Given the description of an element on the screen output the (x, y) to click on. 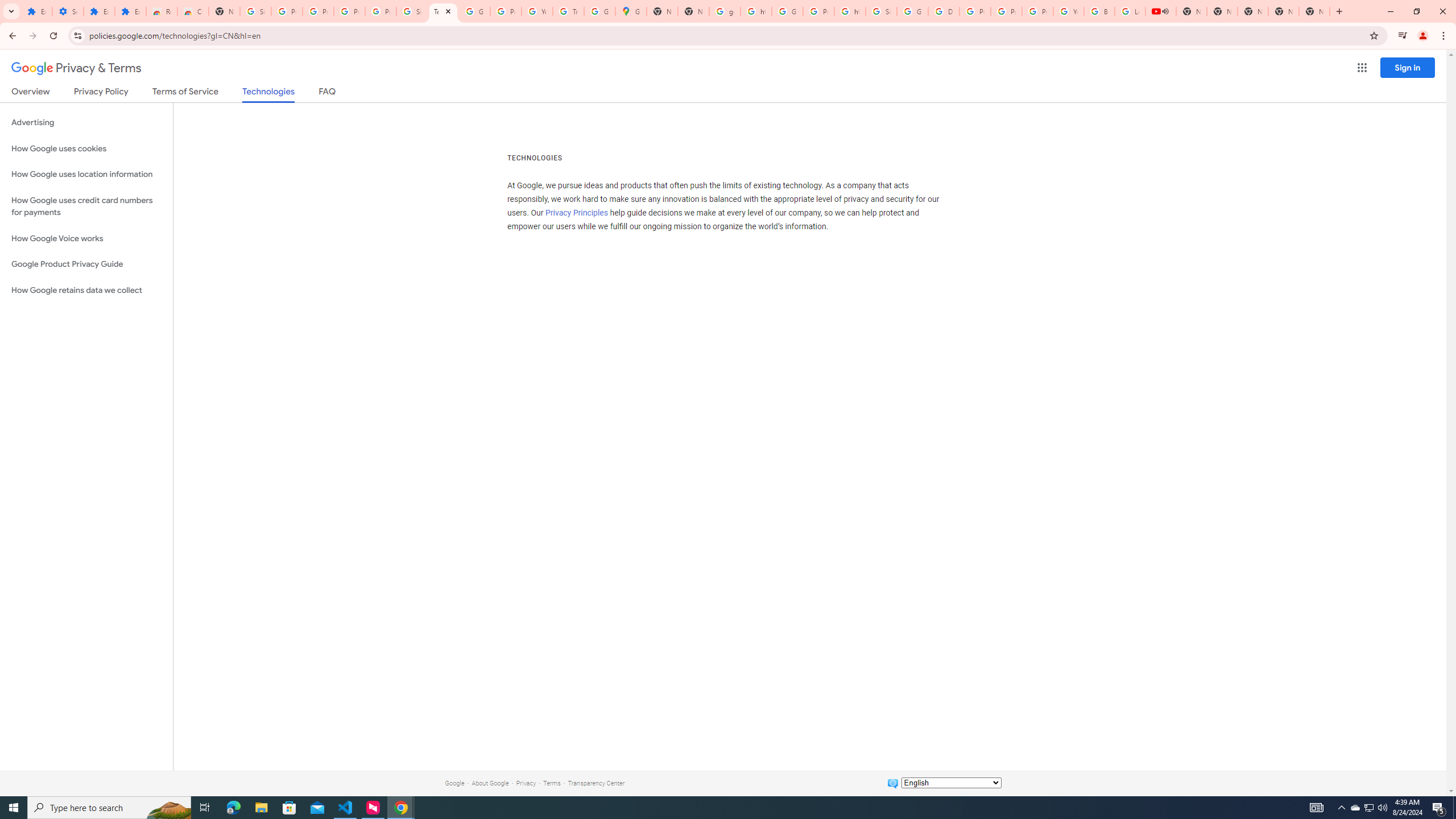
Mute tab (1165, 10)
Google (454, 783)
Advertising (86, 122)
New Tab (223, 11)
